Given the description of an element on the screen output the (x, y) to click on. 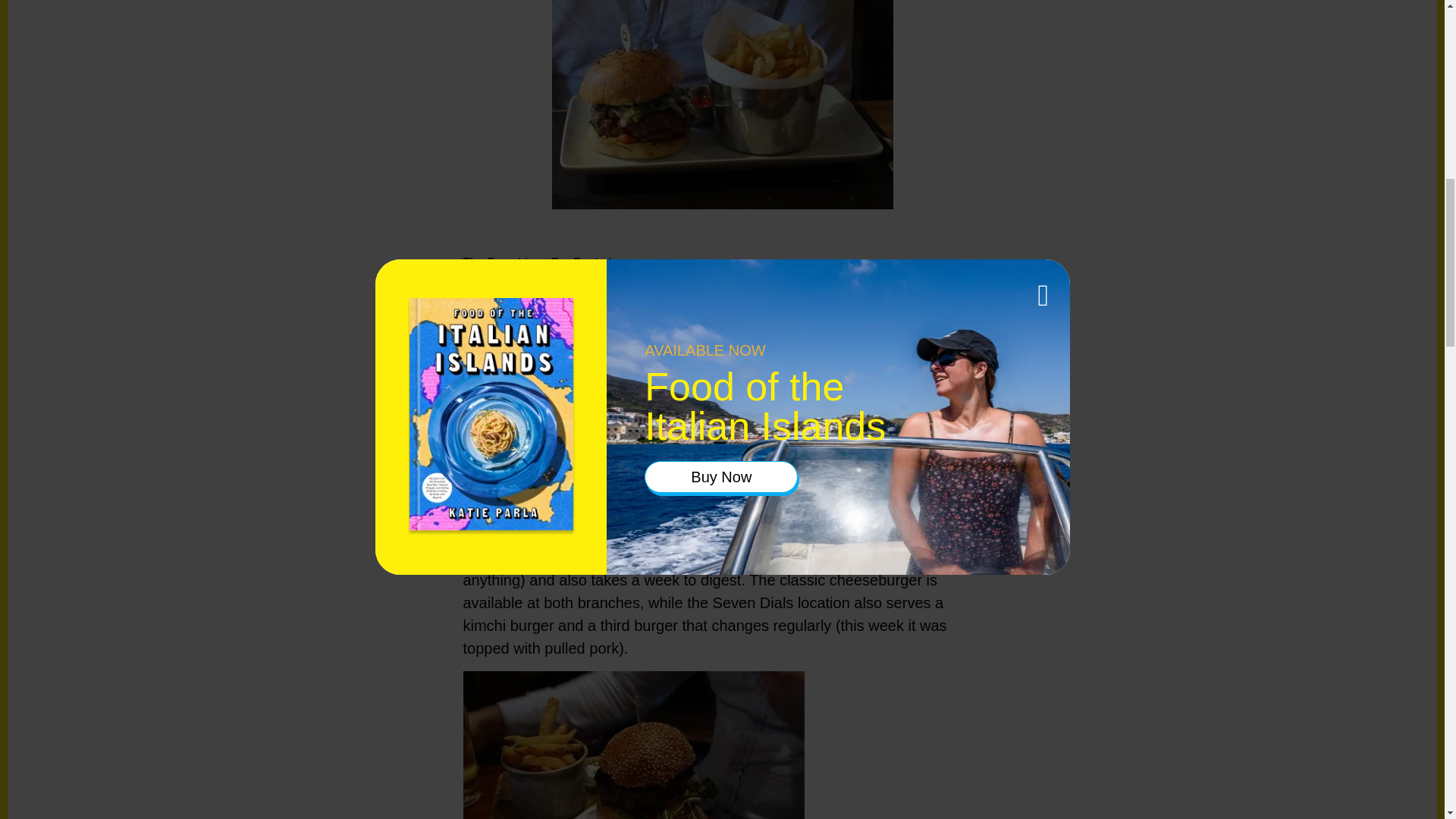
a visit in back in May (721, 329)
The Hawksmoor (518, 443)
frenchie (722, 104)
